Given the description of an element on the screen output the (x, y) to click on. 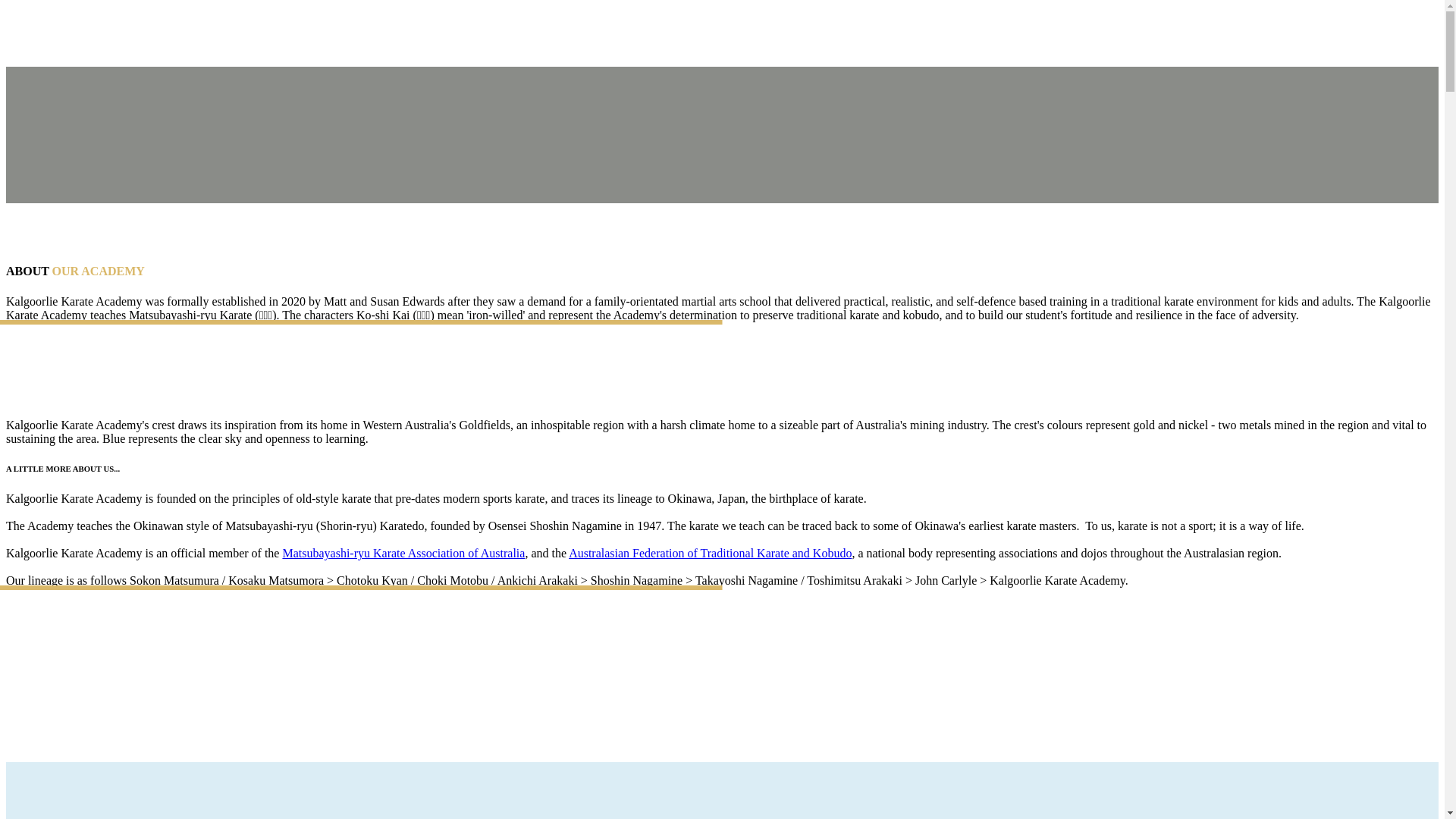
Matsubayashi-ryu Karate Association of Australia Element type: text (403, 552)
Australasian Federation of Traditional Karate and Kobudo Element type: text (709, 552)
